Given the description of an element on the screen output the (x, y) to click on. 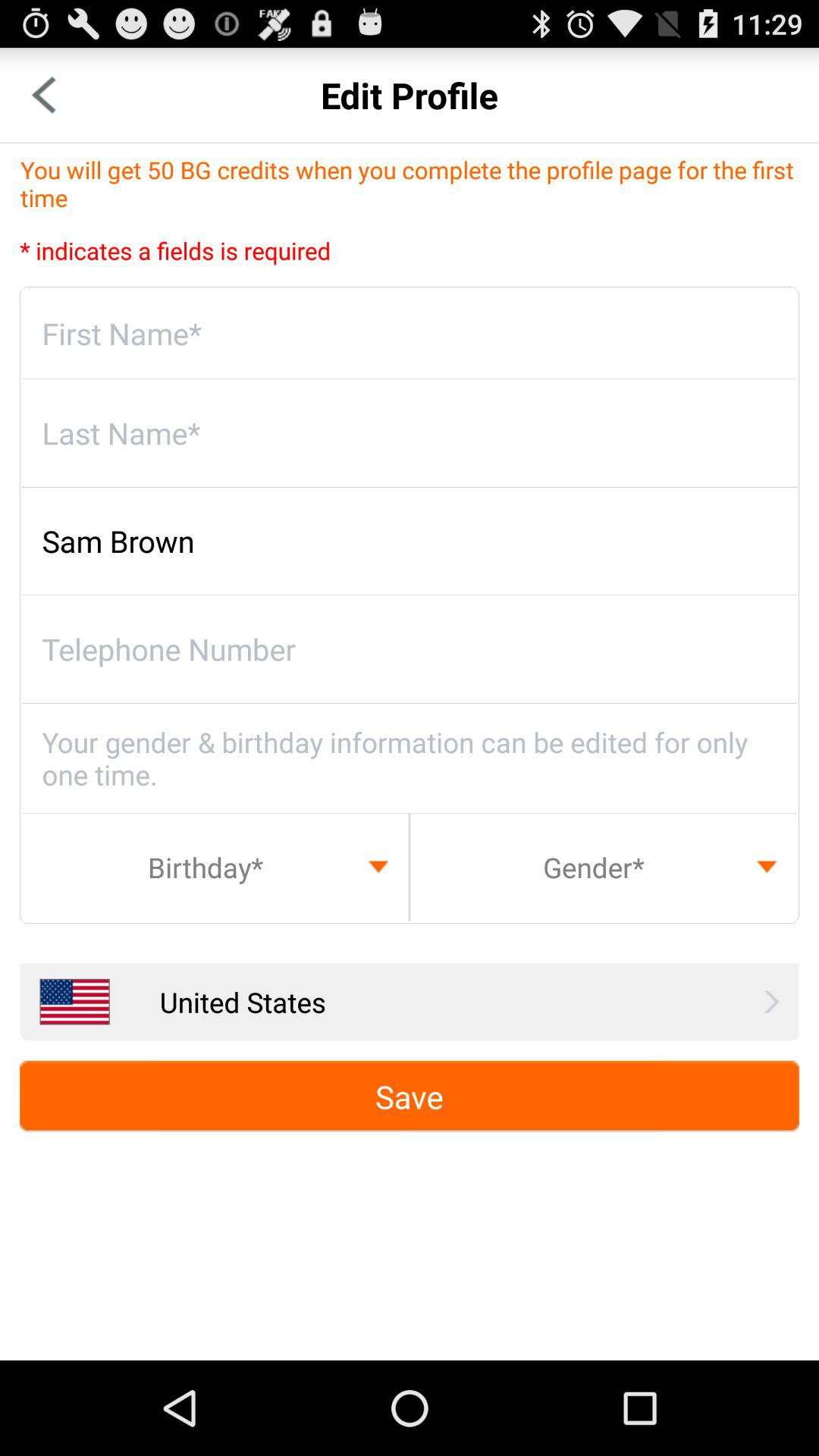
type phone number (409, 648)
